Given the description of an element on the screen output the (x, y) to click on. 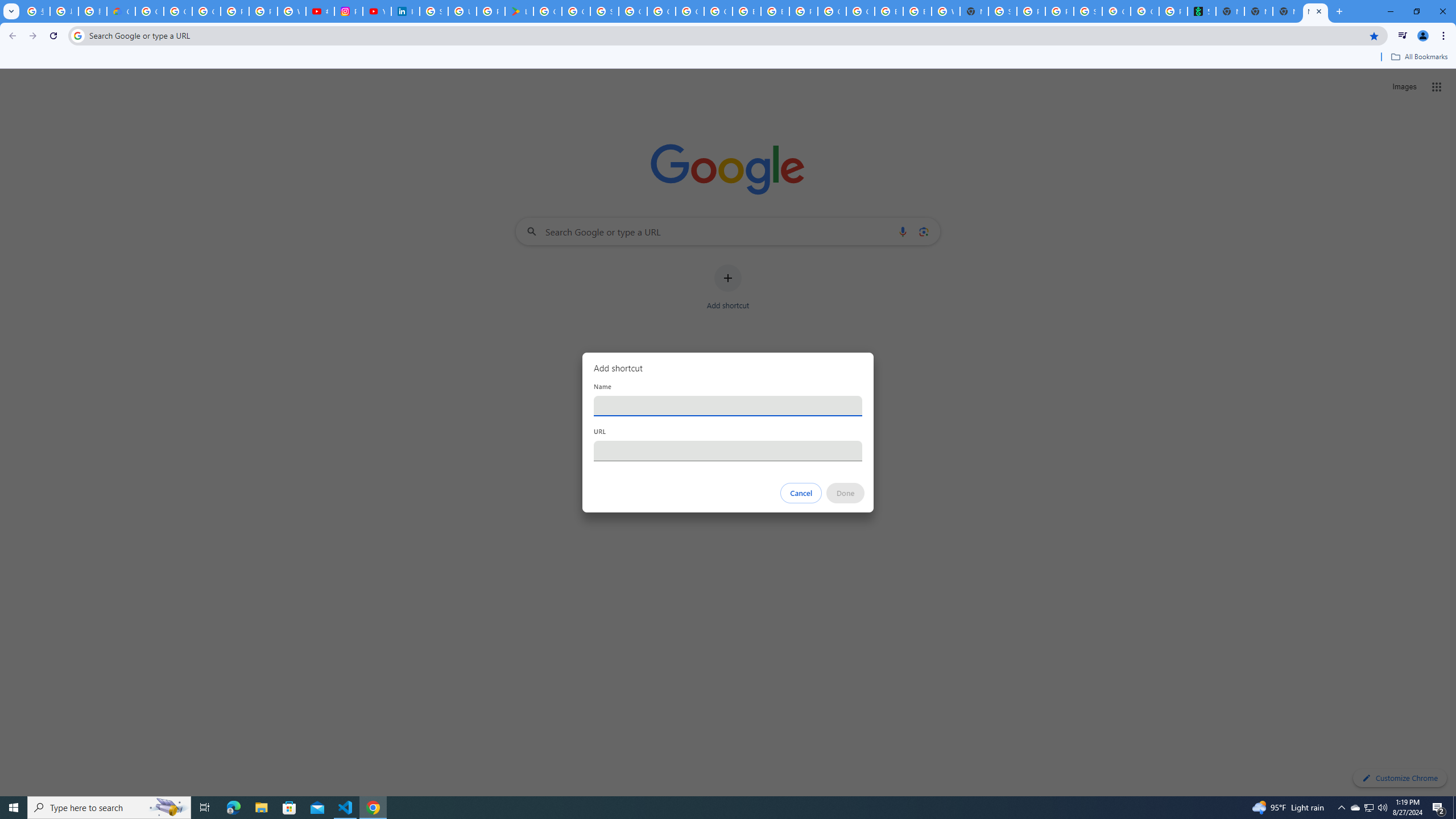
Google Workspace - Specific Terms (575, 11)
#nbabasketballhighlights - YouTube (320, 11)
New Tab (1315, 11)
Privacy Help Center - Policies Help (234, 11)
Name (727, 405)
YouTube Culture & Trends - On The Rise: Handcam Videos (377, 11)
Privacy Help Center - Policies Help (263, 11)
URL (727, 450)
